Given the description of an element on the screen output the (x, y) to click on. 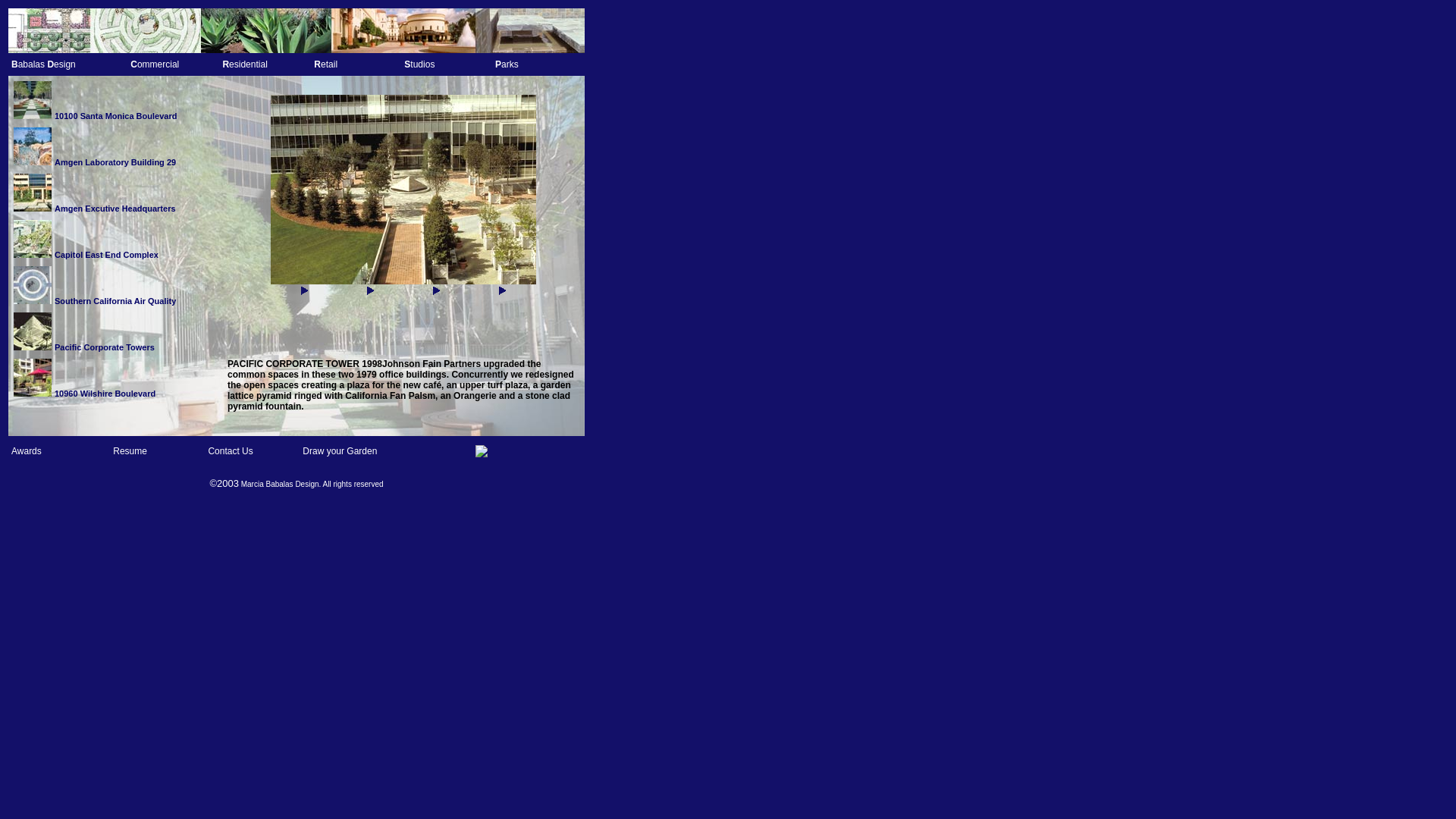
Pacific Corporate Towers (104, 345)
10960 Wilshire Boulevard (105, 391)
Resume (130, 450)
etail (328, 63)
tudios (421, 63)
arks (509, 63)
Awards (26, 450)
Contact Us (229, 450)
abalas Design (46, 63)
ommercial (157, 63)
